Given the description of an element on the screen output the (x, y) to click on. 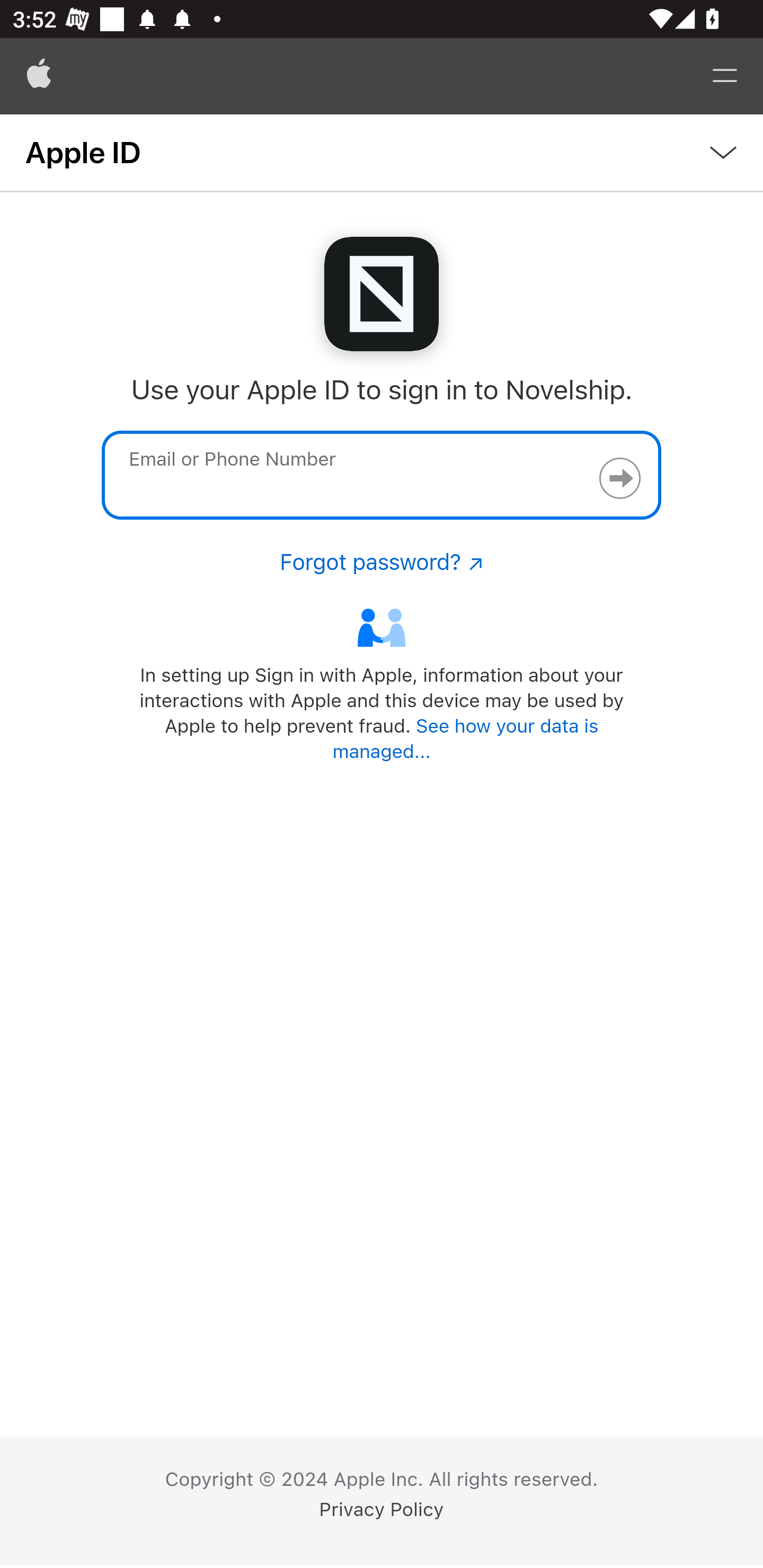
Apple (38, 75)
Menu (724, 75)
Continue (618, 477)
Privacy Policy (381, 1509)
